Given the description of an element on the screen output the (x, y) to click on. 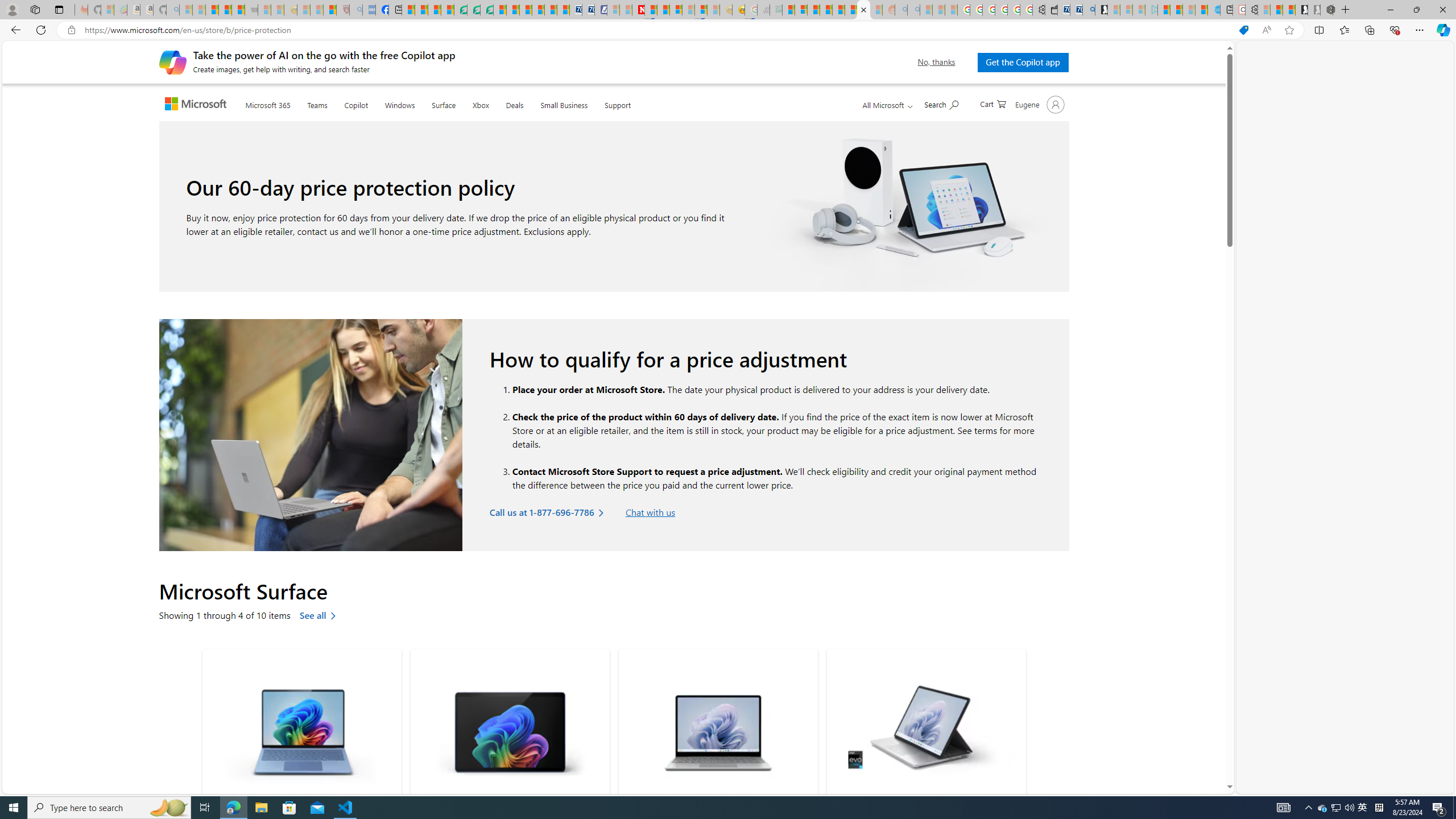
Windows (400, 103)
Navy Quest (763, 9)
Microsoft account | Privacy - Sleeping (1139, 9)
Small Business (563, 103)
Microsoft Start Gaming (1101, 9)
Microsoft-Report a Concern to Bing - Sleeping (107, 9)
